Given the description of an element on the screen output the (x, y) to click on. 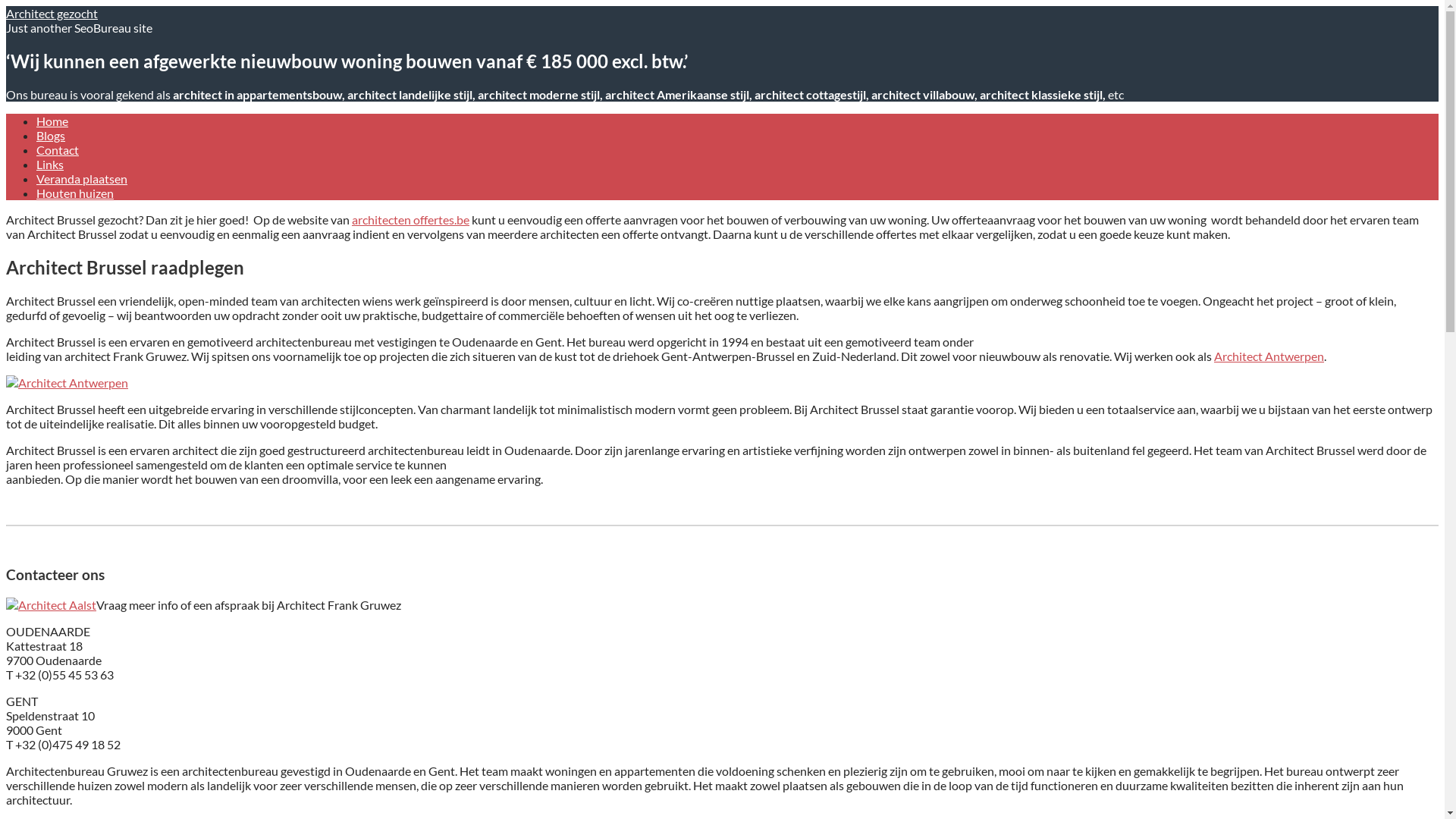
Blogs Element type: text (50, 135)
Home Element type: text (52, 120)
Architect gezocht Element type: text (51, 13)
architecten offertes.be Element type: text (410, 219)
Contact Element type: text (57, 149)
Links Element type: text (49, 163)
Skip to content Element type: text (5, 5)
Architect Antwerpen Element type: text (1269, 355)
Veranda plaatsen Element type: text (81, 178)
Houten huizen Element type: text (74, 192)
